Given the description of an element on the screen output the (x, y) to click on. 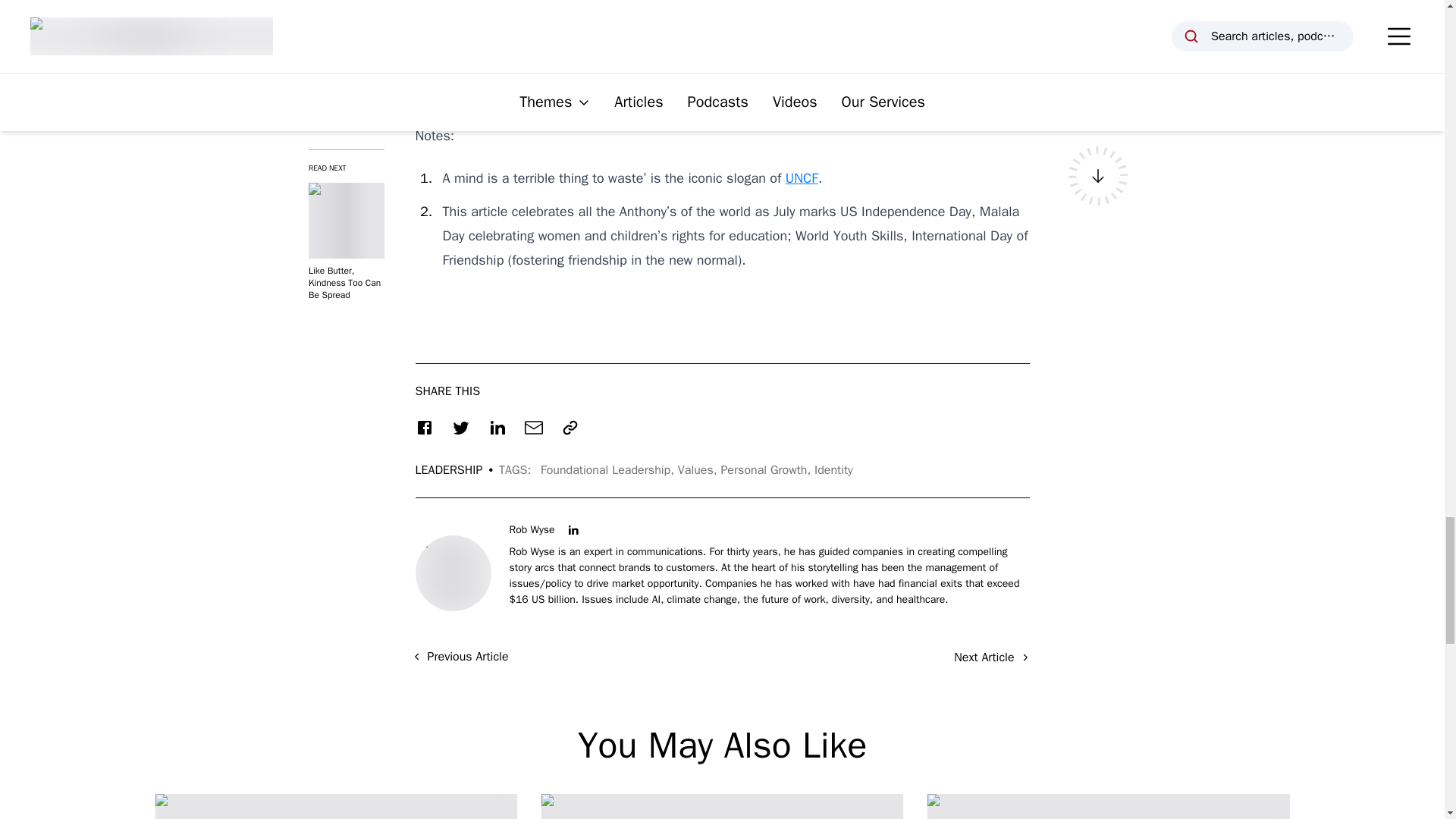
Personal Growth, (766, 469)
Rob Wyse (531, 529)
Previous Article (460, 656)
Foundational Leadership, (609, 469)
Values, (699, 469)
UNCF (802, 177)
Next Article (991, 656)
Identity (833, 469)
